Given the description of an element on the screen output the (x, y) to click on. 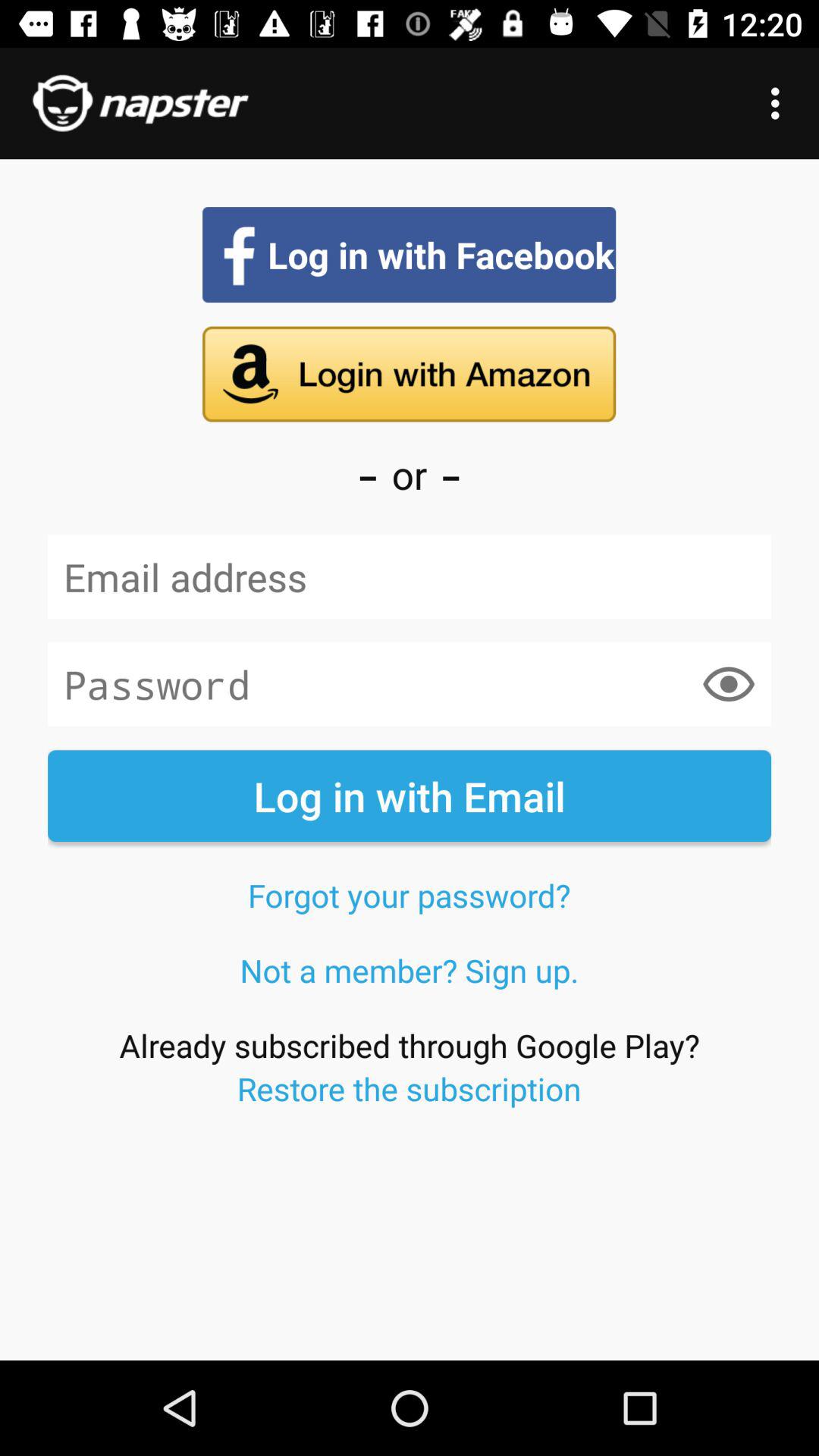
login with your amazon account (408, 374)
